Given the description of an element on the screen output the (x, y) to click on. 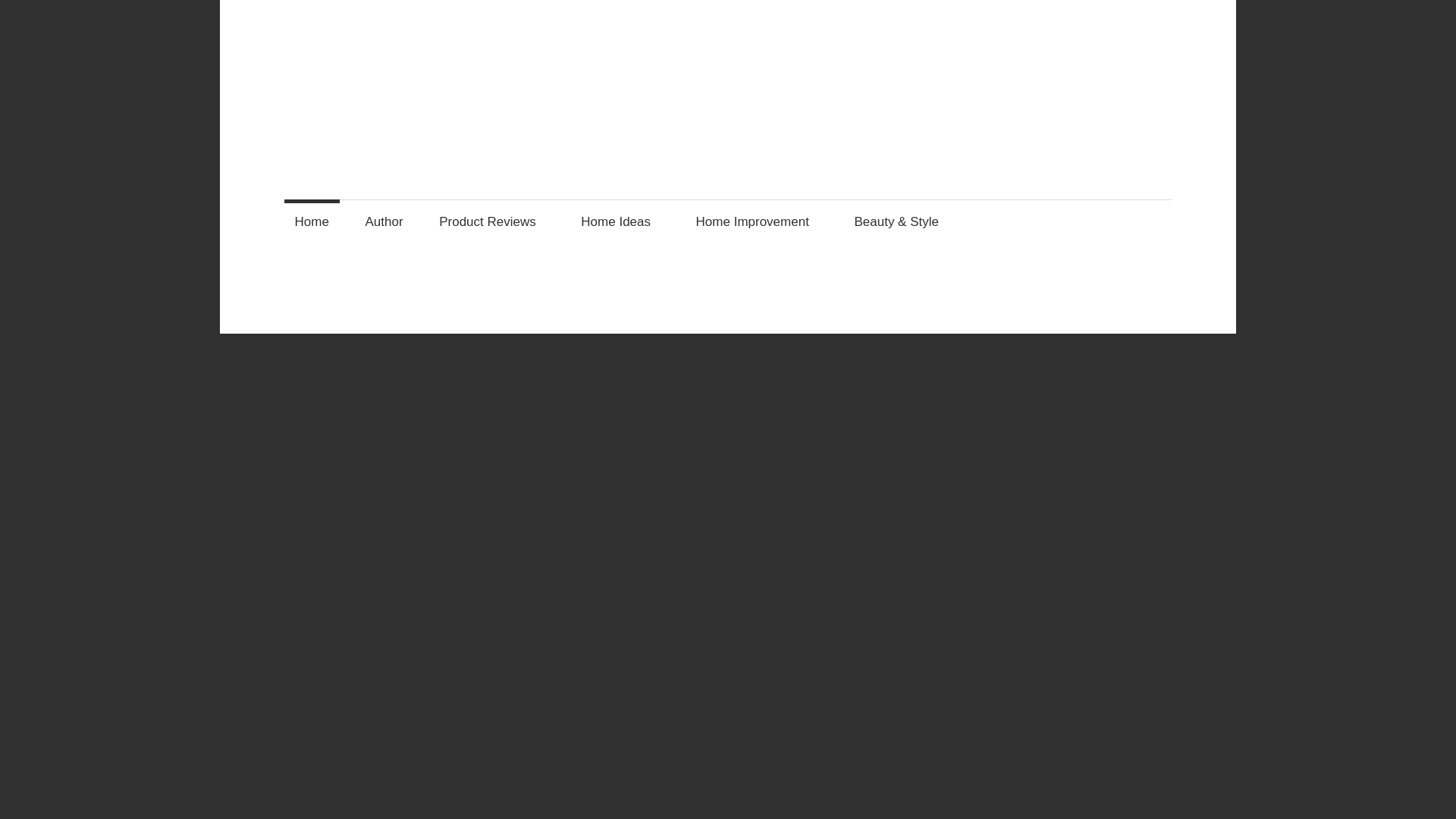
Author Element type: text (383, 220)
Home Improvement Element type: text (756, 220)
Home Ideas Element type: text (620, 220)
Product Reviews Element type: text (492, 220)
Home Element type: text (311, 220)
Beauty & Style Element type: text (901, 220)
